Given the description of an element on the screen output the (x, y) to click on. 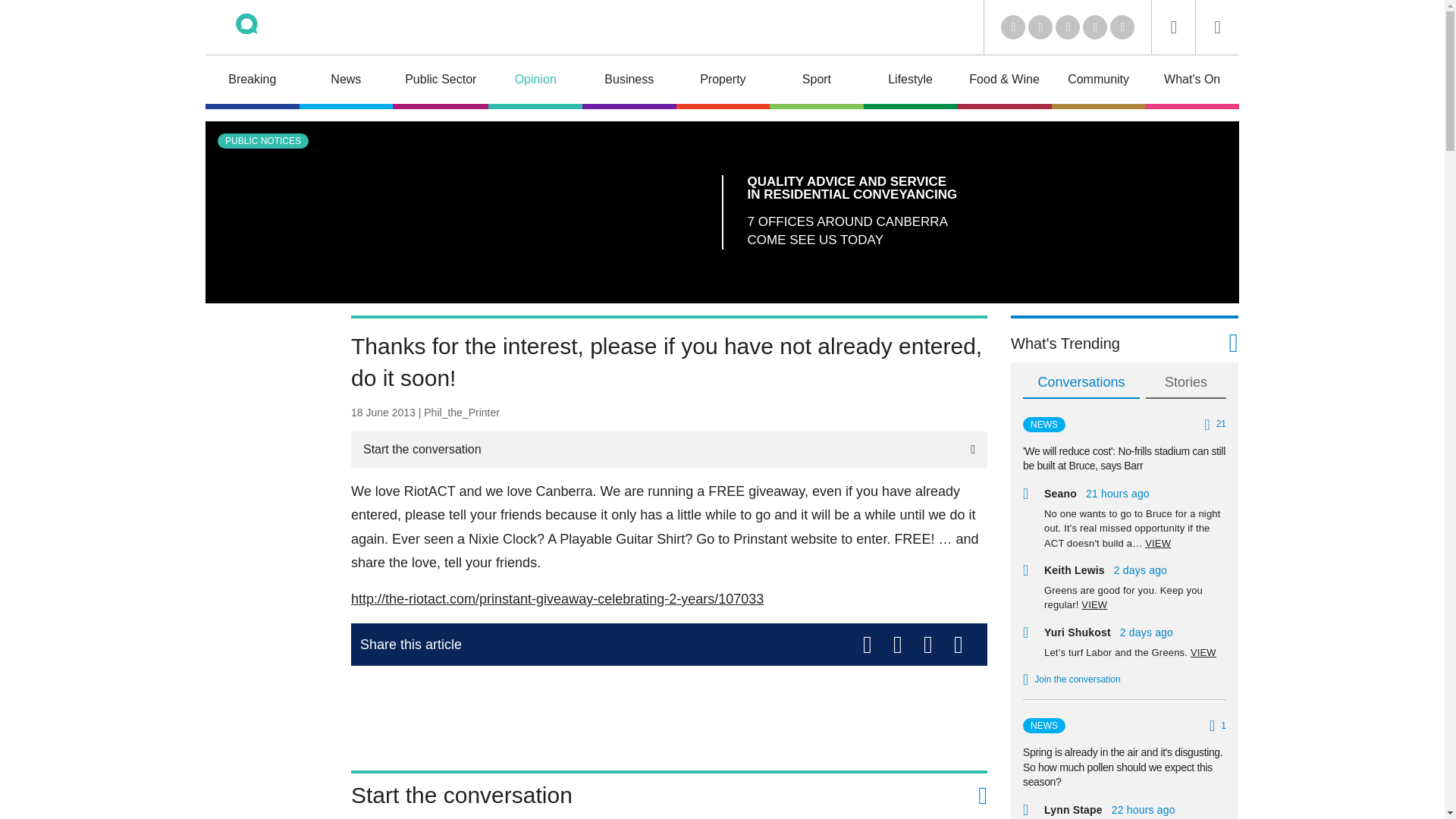
Facebook (1094, 27)
Youtube (1067, 27)
Twitter (1039, 27)
Breaking (252, 81)
News (346, 81)
Riotact Home (267, 26)
Instagram (1121, 27)
LinkedIn (1013, 27)
